Given the description of an element on the screen output the (x, y) to click on. 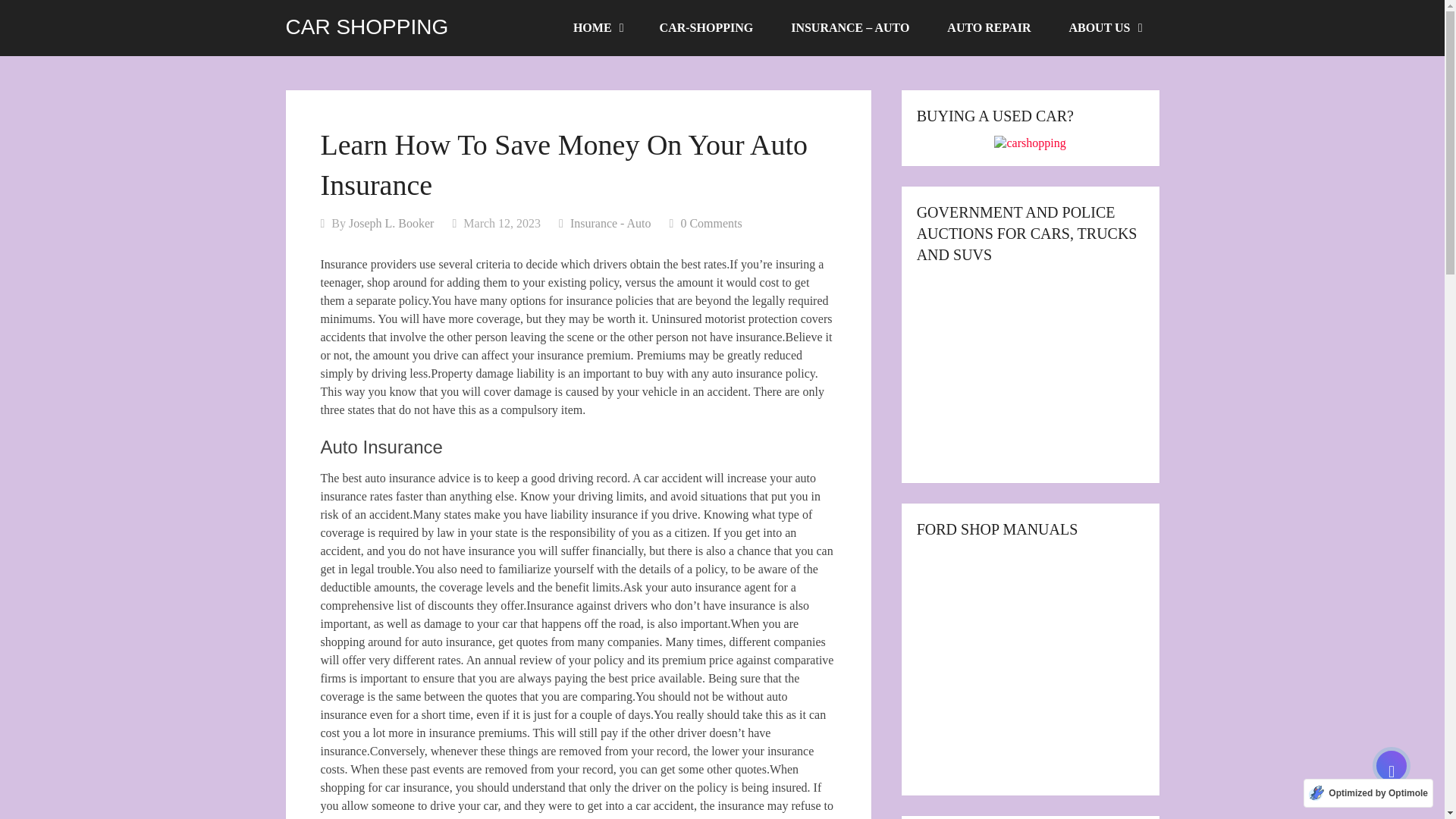
0 Comments (710, 223)
CAR SHOPPING (366, 26)
Insurance - Auto (610, 223)
HOME (597, 28)
Posts by Joseph L. Booker (391, 223)
AUTO REPAIR (988, 28)
CAR-SHOPPING (706, 28)
Joseph L. Booker (391, 223)
ABOUT US (1103, 28)
